Given the description of an element on the screen output the (x, y) to click on. 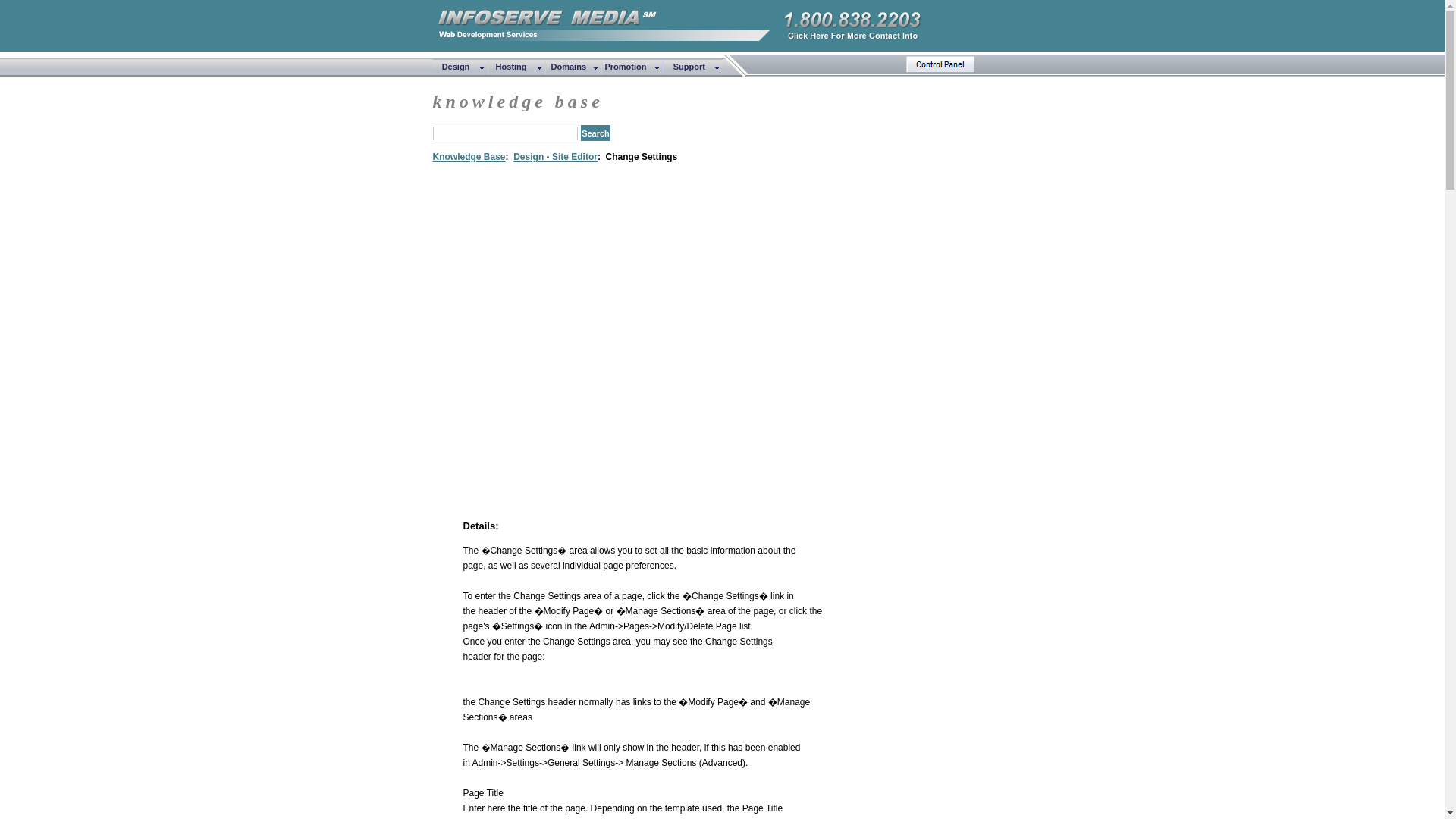
Knowledge Base (468, 156)
Search (595, 132)
Search (595, 132)
  Hosting (515, 66)
   Support (692, 66)
Design - Site Editor (554, 156)
   Design (459, 66)
 Domains (573, 66)
Promotion (632, 66)
